Given the description of an element on the screen output the (x, y) to click on. 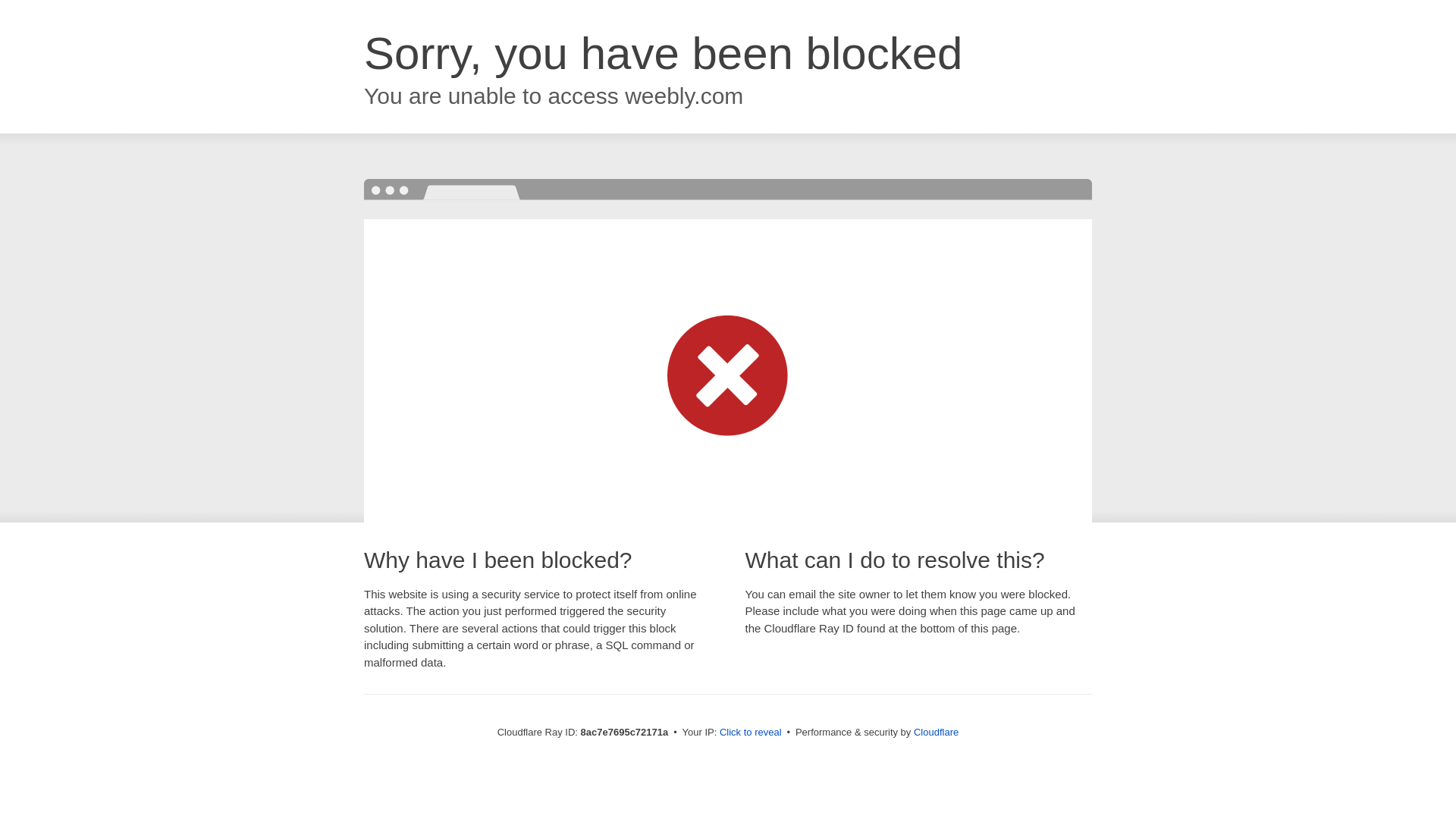
Cloudflare (936, 731)
Click to reveal (750, 732)
